Given the description of an element on the screen output the (x, y) to click on. 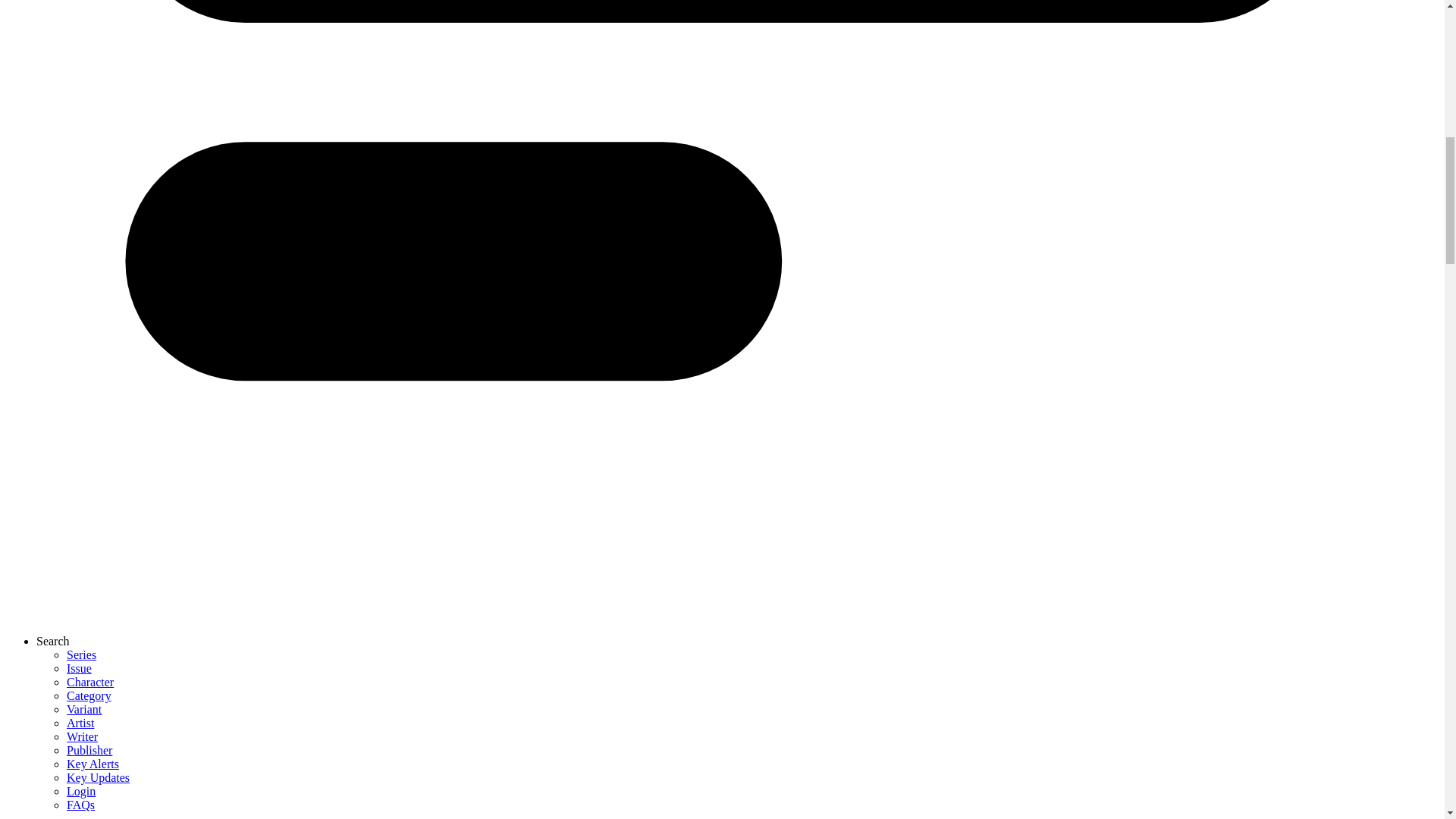
Login (81, 790)
Variant (83, 708)
Character (89, 681)
Category (89, 695)
FAQs (80, 804)
Key Alerts (92, 763)
Issue (78, 667)
Publisher (89, 749)
Writer (81, 736)
Series (81, 654)
Key Updates (97, 777)
Artist (80, 722)
